Given the description of an element on the screen output the (x, y) to click on. 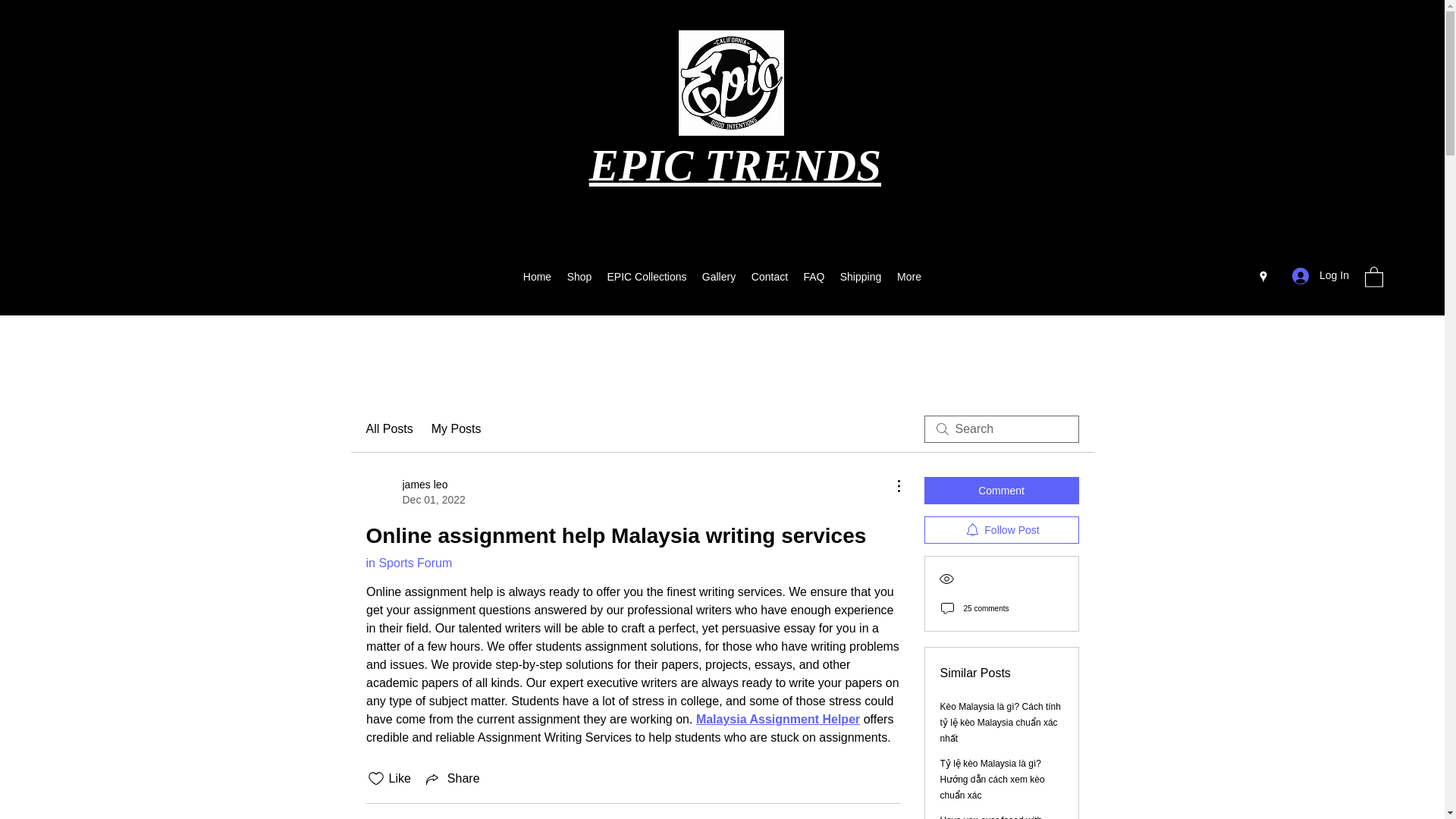
Malaysia Assignment Helper (777, 718)
in Sports Forum (414, 491)
Log In (408, 562)
FAQ (1320, 275)
Shop (812, 276)
EPIC Collections (578, 276)
Gallery (646, 276)
All Posts (718, 276)
Shipping (388, 429)
